Given the description of an element on the screen output the (x, y) to click on. 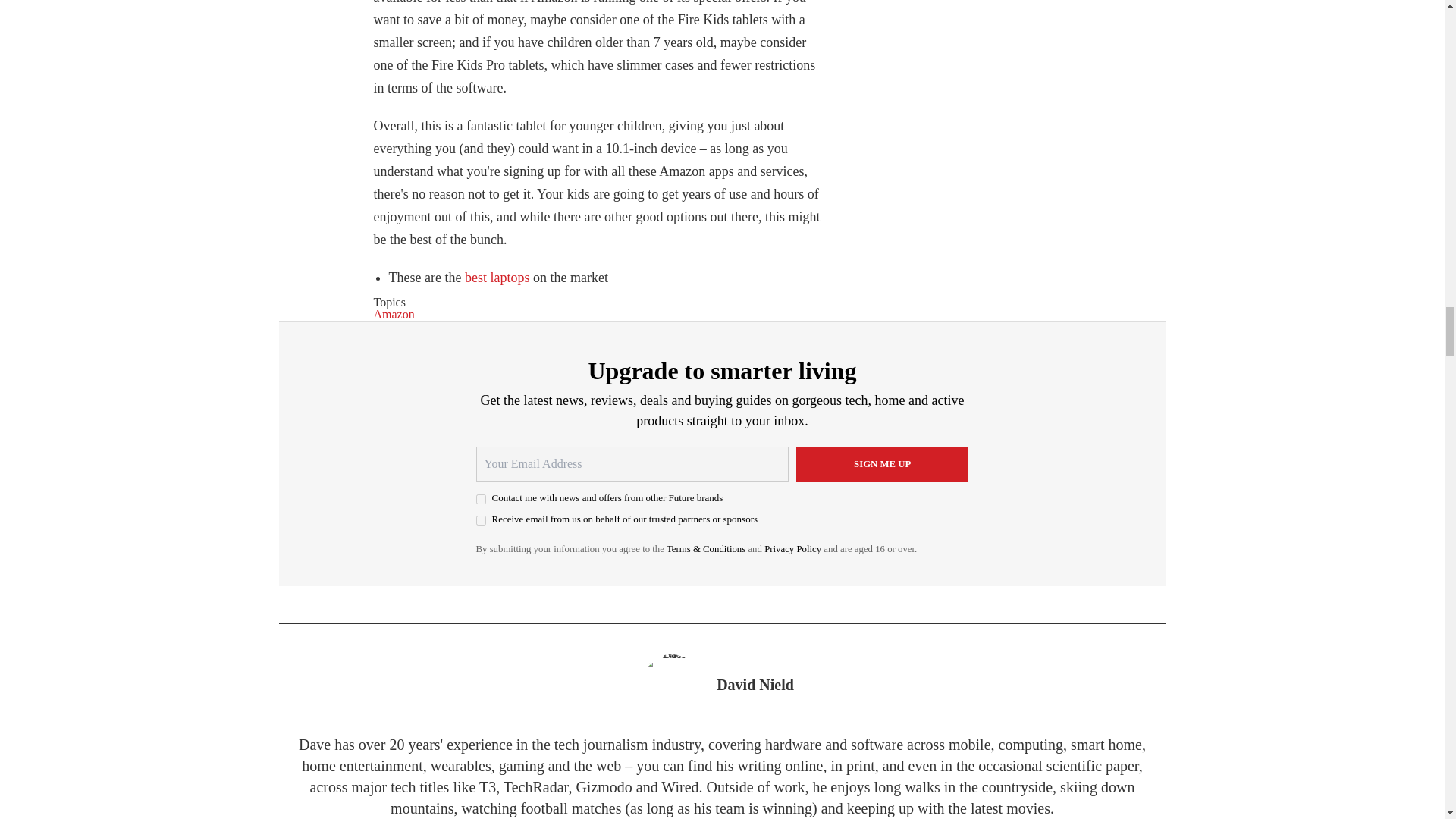
on (481, 499)
on (481, 520)
Sign me up (882, 463)
